Given the description of an element on the screen output the (x, y) to click on. 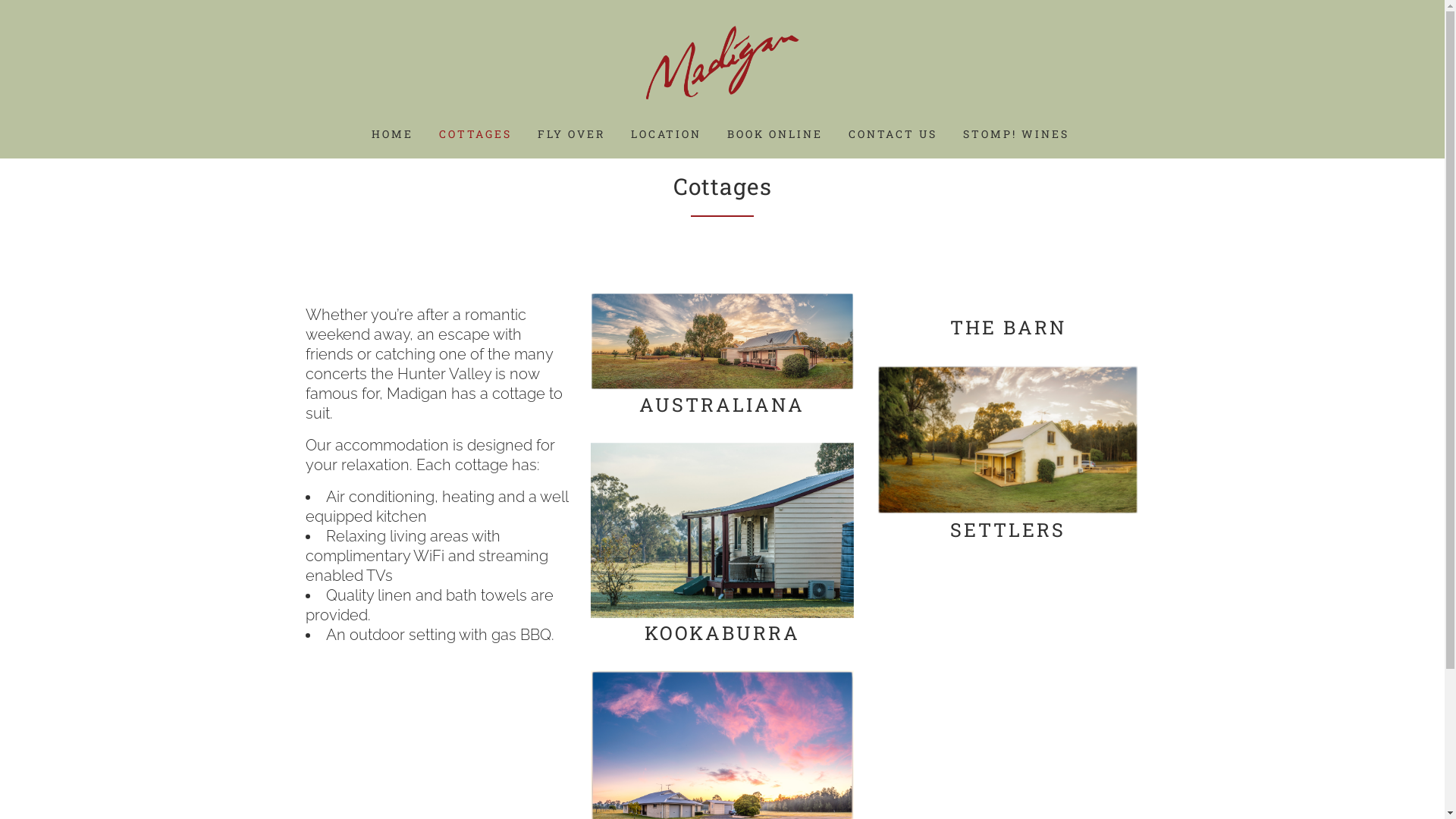
AUSTRALIANA Element type: text (721, 404)
THE BARN Element type: text (1008, 326)
STOMP! WINES Element type: text (1016, 133)
BOOK ONLINE Element type: text (774, 133)
FLY OVER Element type: text (571, 133)
LOCATION Element type: text (666, 133)
CONTACT US Element type: text (892, 133)
HOME Element type: text (392, 133)
KOOKABURRA Element type: text (722, 632)
COTTAGES Element type: text (475, 133)
SETTLERS Element type: text (1007, 529)
